Given the description of an element on the screen output the (x, y) to click on. 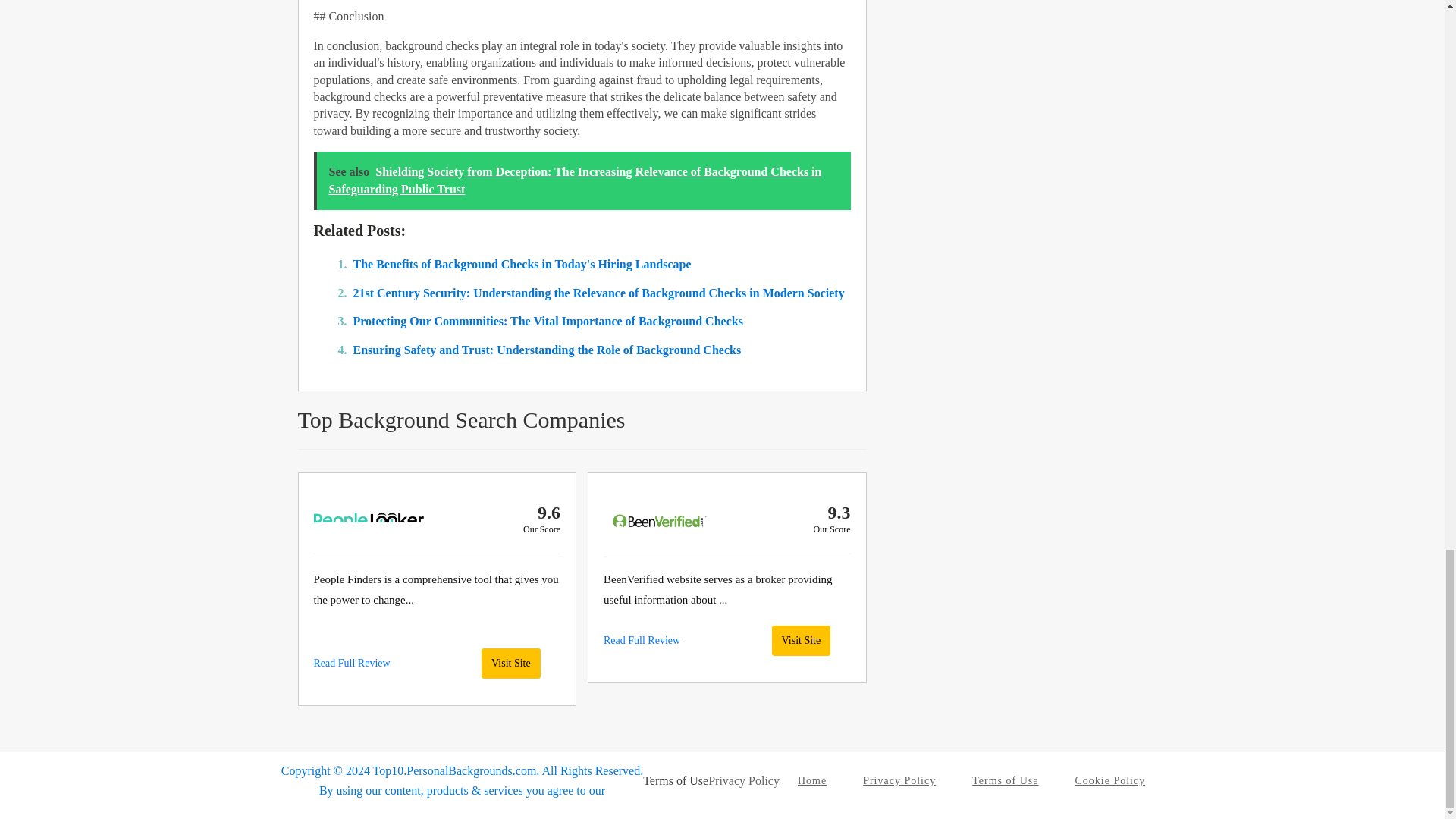
Read Full Review (352, 662)
Read Full Review (641, 640)
Visit Site (801, 640)
Visit Site (510, 663)
